Given the description of an element on the screen output the (x, y) to click on. 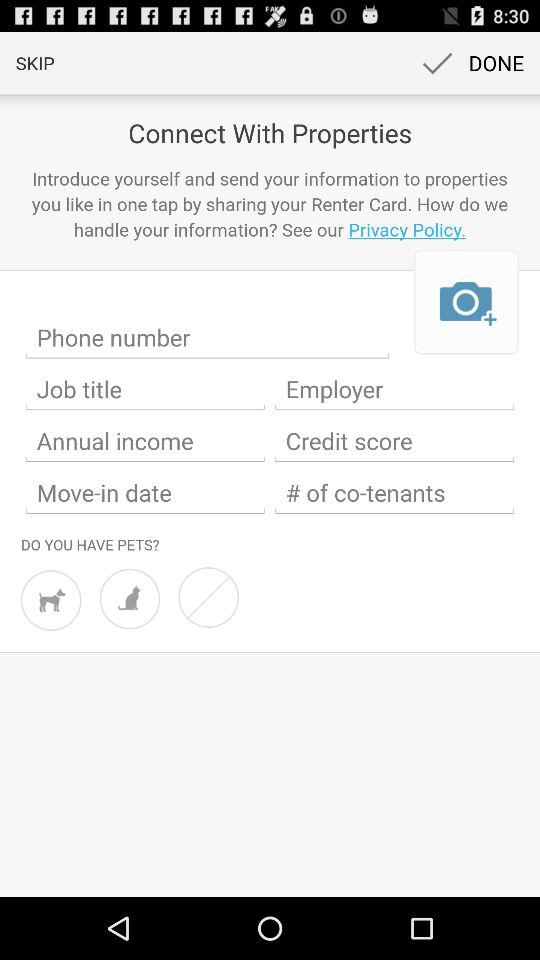
tap introduce yourself and app (270, 203)
